Given the description of an element on the screen output the (x, y) to click on. 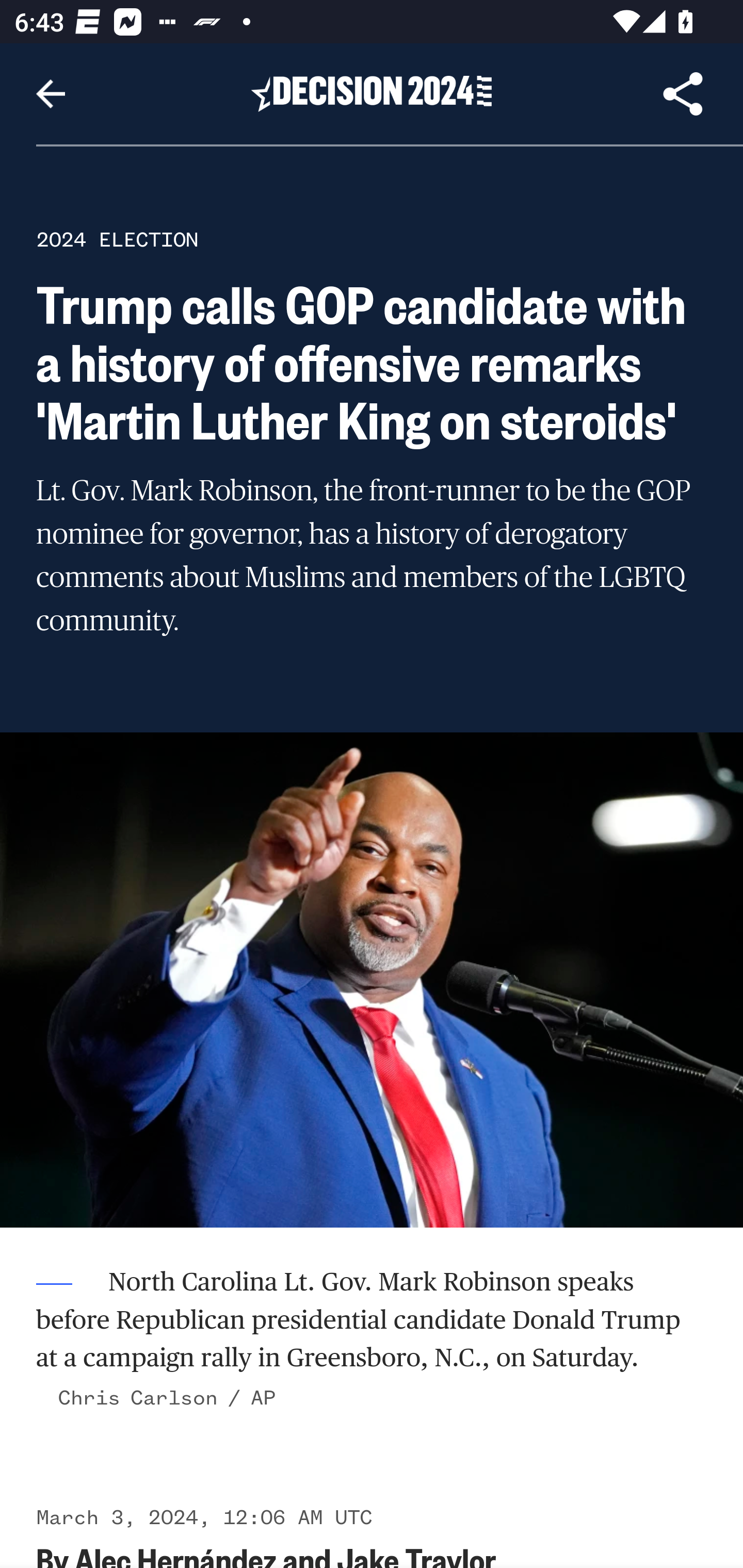
Navigate up (50, 93)
Share Article, button (683, 94)
Header, Decision 2024 (371, 93)
2024 ELECTION (117, 239)
